Given the description of an element on the screen output the (x, y) to click on. 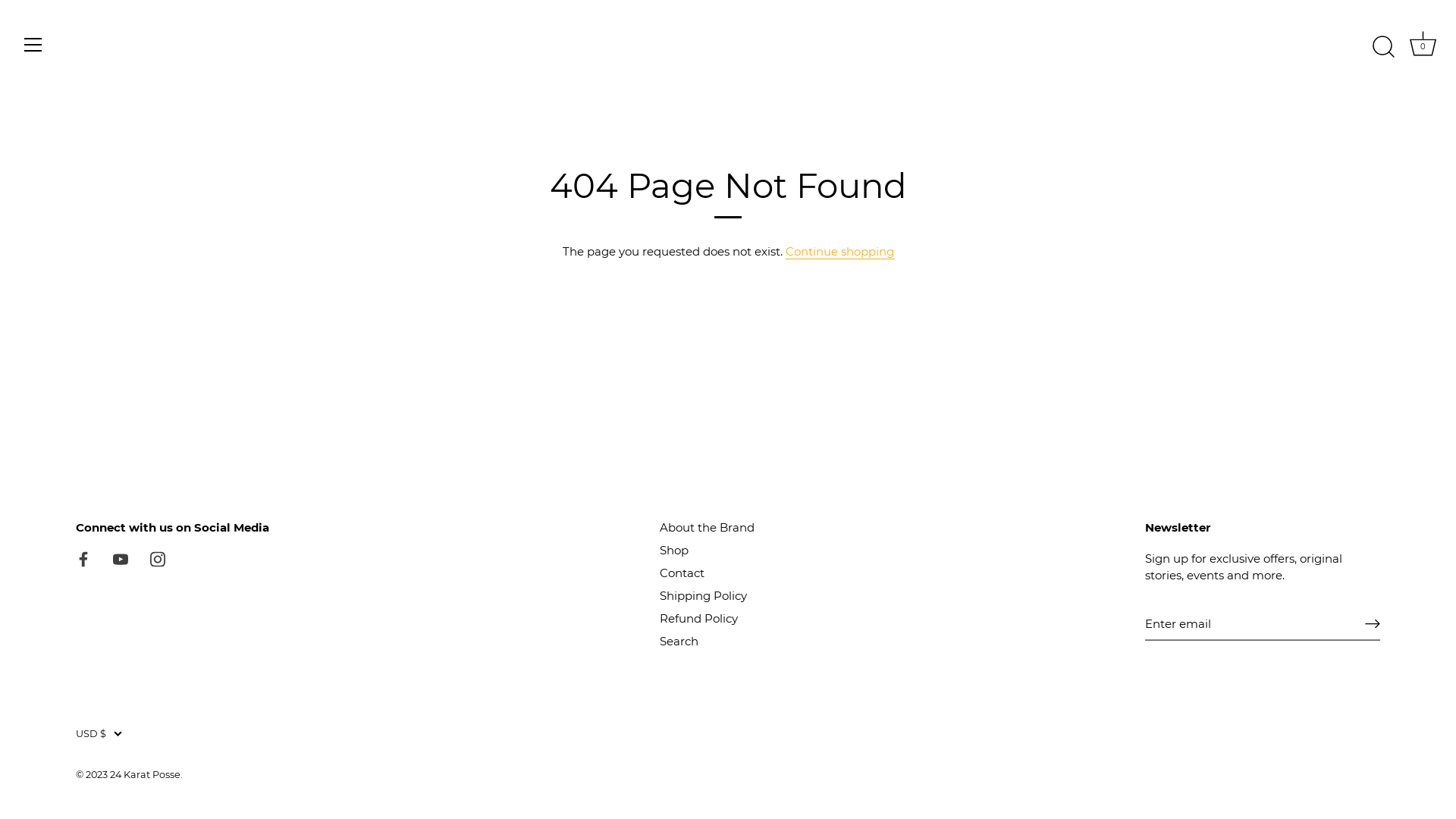
About the Brand Element type: text (706, 526)
Continue shopping Element type: text (839, 251)
Instagram Element type: text (157, 557)
Search Element type: text (678, 640)
Shipping Policy Element type: text (702, 594)
USD $ Element type: text (107, 733)
Contact Element type: text (681, 571)
24 Karat Posse Element type: text (144, 773)
RIGHT ARROW LONG Element type: text (1372, 622)
Refund Policy Element type: text (698, 617)
Youtube Element type: text (120, 557)
Shop Element type: text (673, 549)
Cart
0 Element type: text (1422, 46)
